Given the description of an element on the screen output the (x, y) to click on. 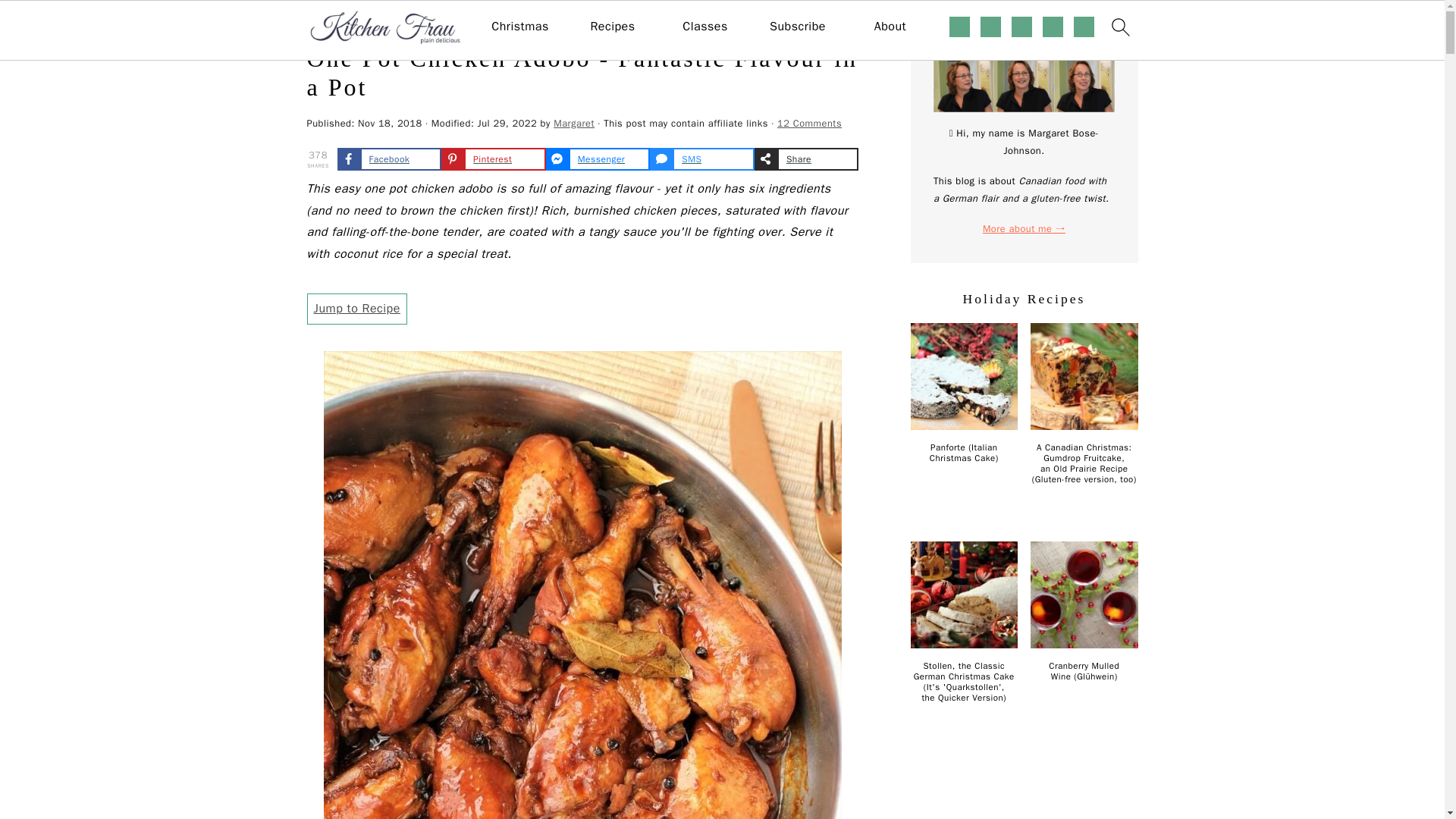
Recipes (611, 26)
Christmas (520, 26)
Home (319, 23)
Subscribe (797, 26)
Classes (704, 26)
search icon (1119, 26)
About (890, 26)
Recipes (361, 23)
